Given the description of an element on the screen output the (x, y) to click on. 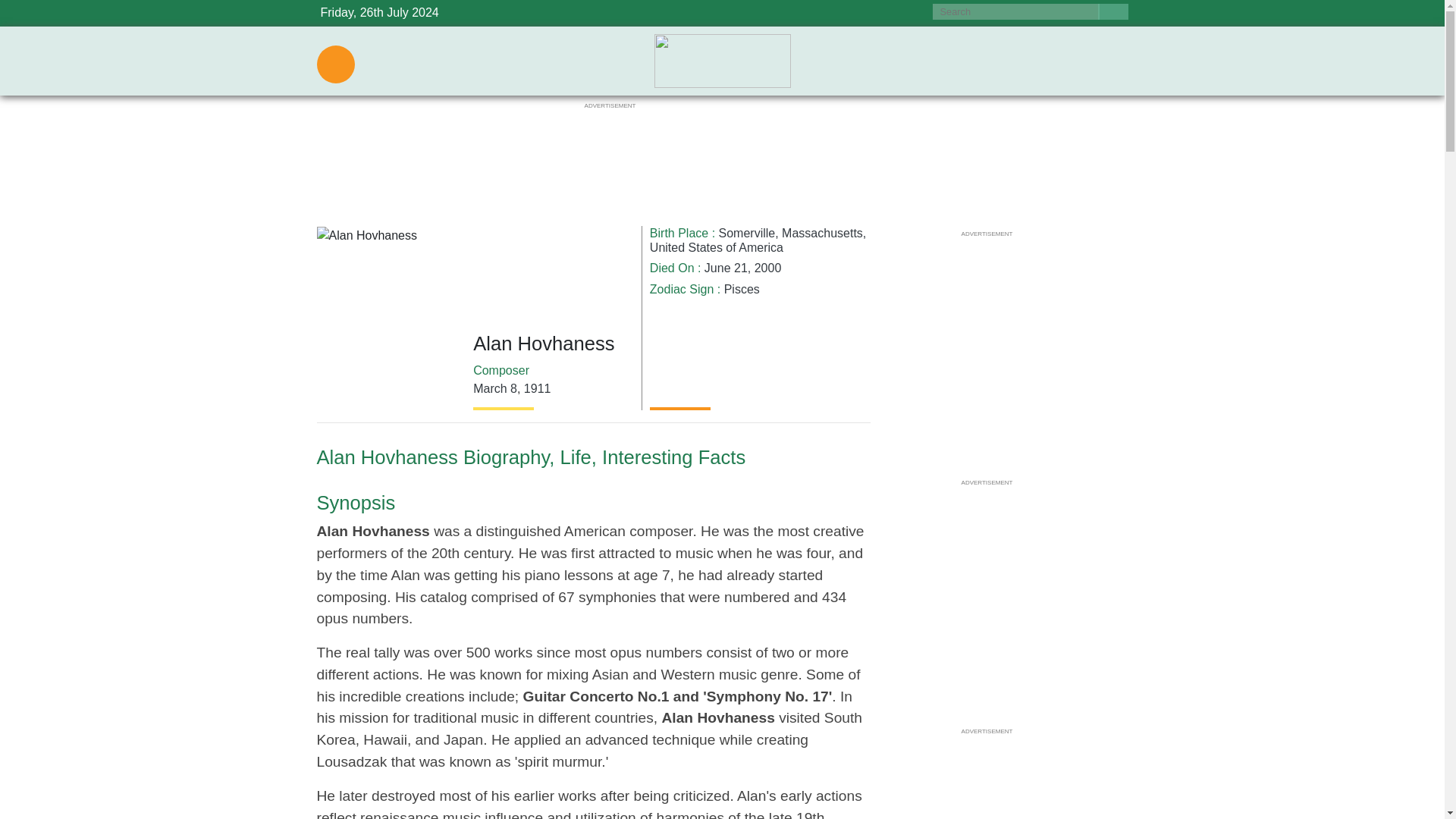
United States of America (716, 246)
Massachusetts (822, 232)
Zodiac Sign (681, 288)
Somerville (747, 232)
Composer (501, 369)
Pisces (741, 288)
1911 (537, 388)
March 8 (494, 388)
June 21 (726, 267)
2000 (767, 267)
